Given the description of an element on the screen output the (x, y) to click on. 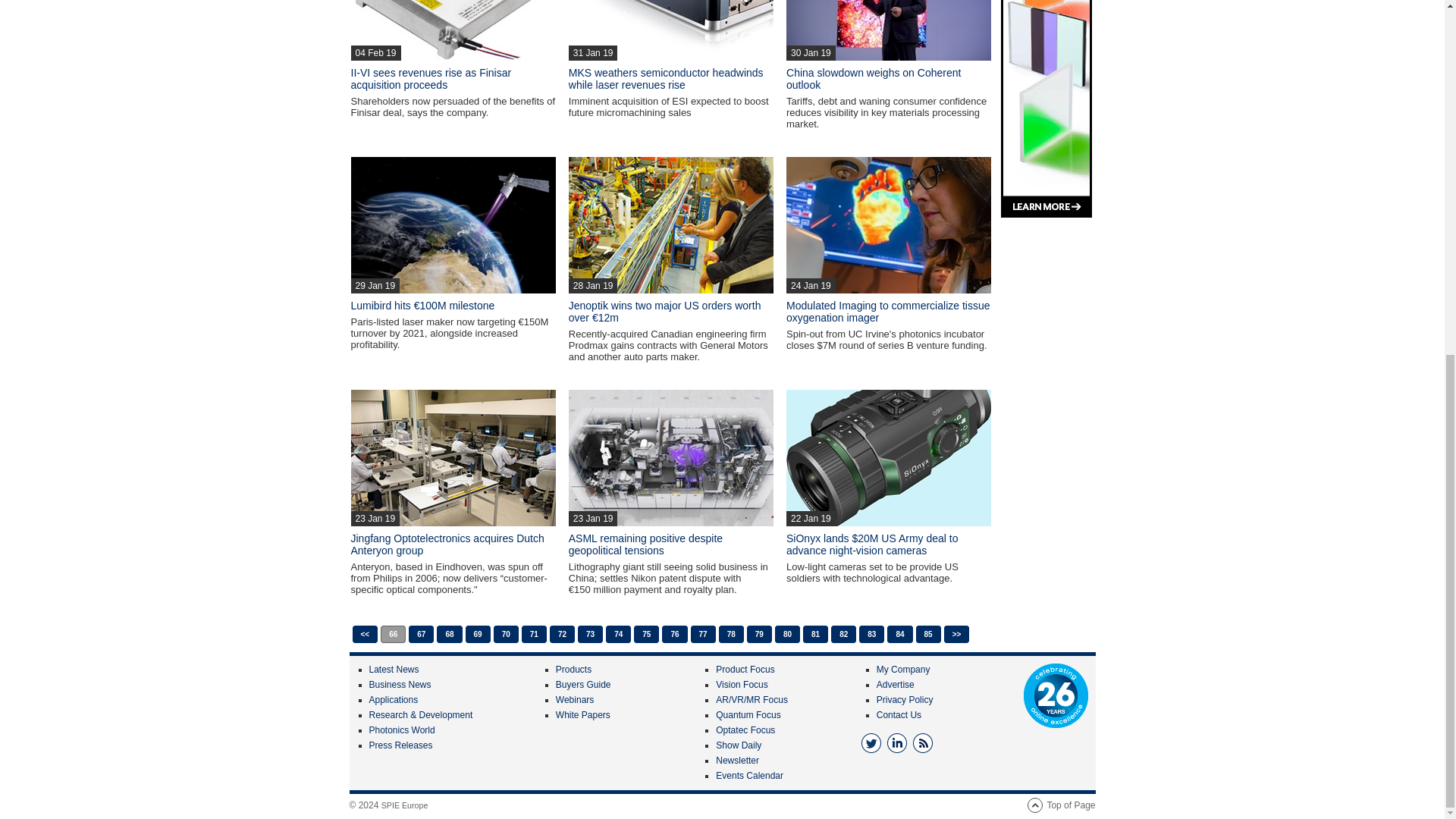
Twitter (870, 742)
RSS Feeds (922, 742)
LinkedIn (896, 742)
